Given the description of an element on the screen output the (x, y) to click on. 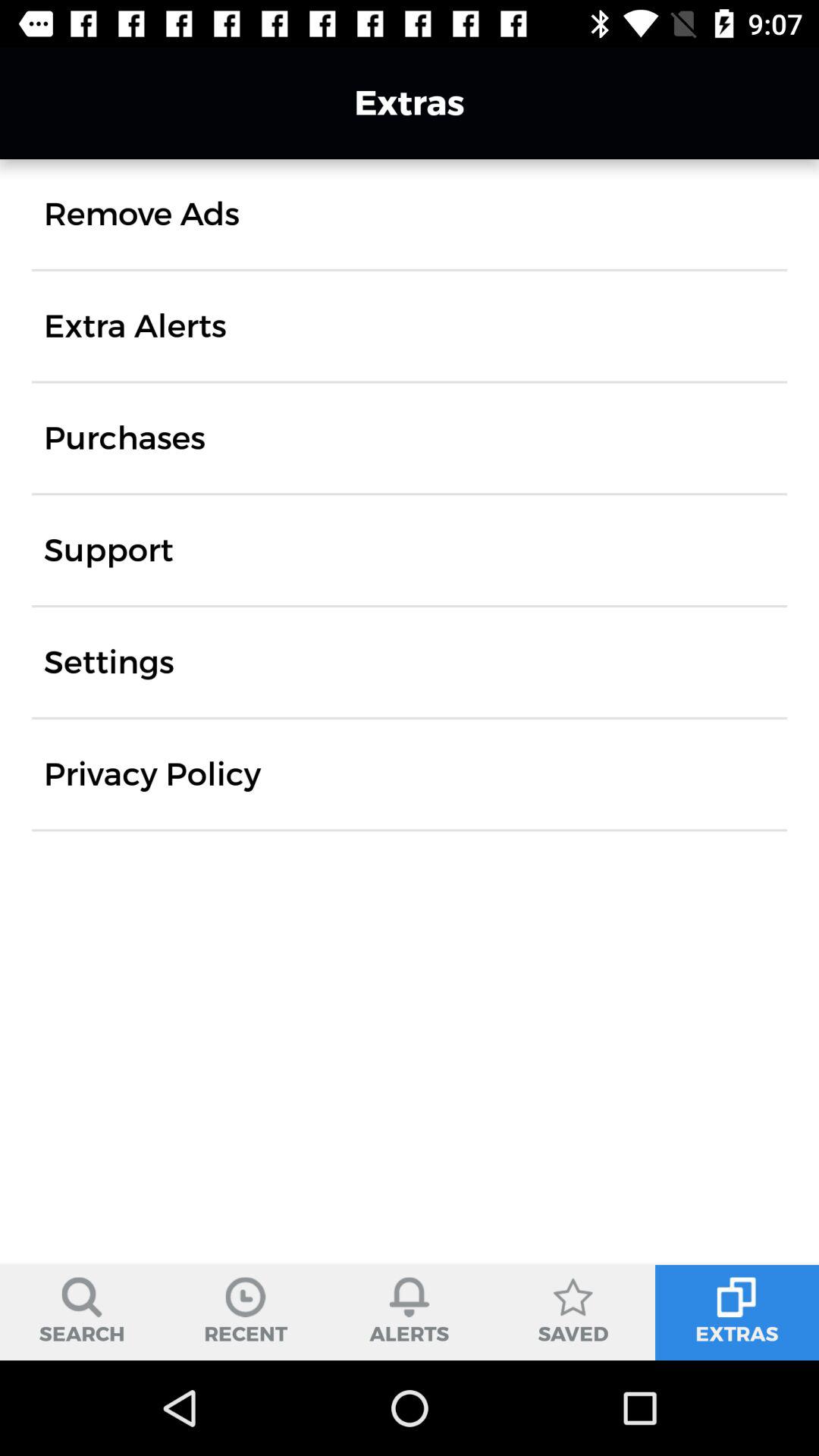
jump to purchases icon (124, 438)
